Given the description of an element on the screen output the (x, y) to click on. 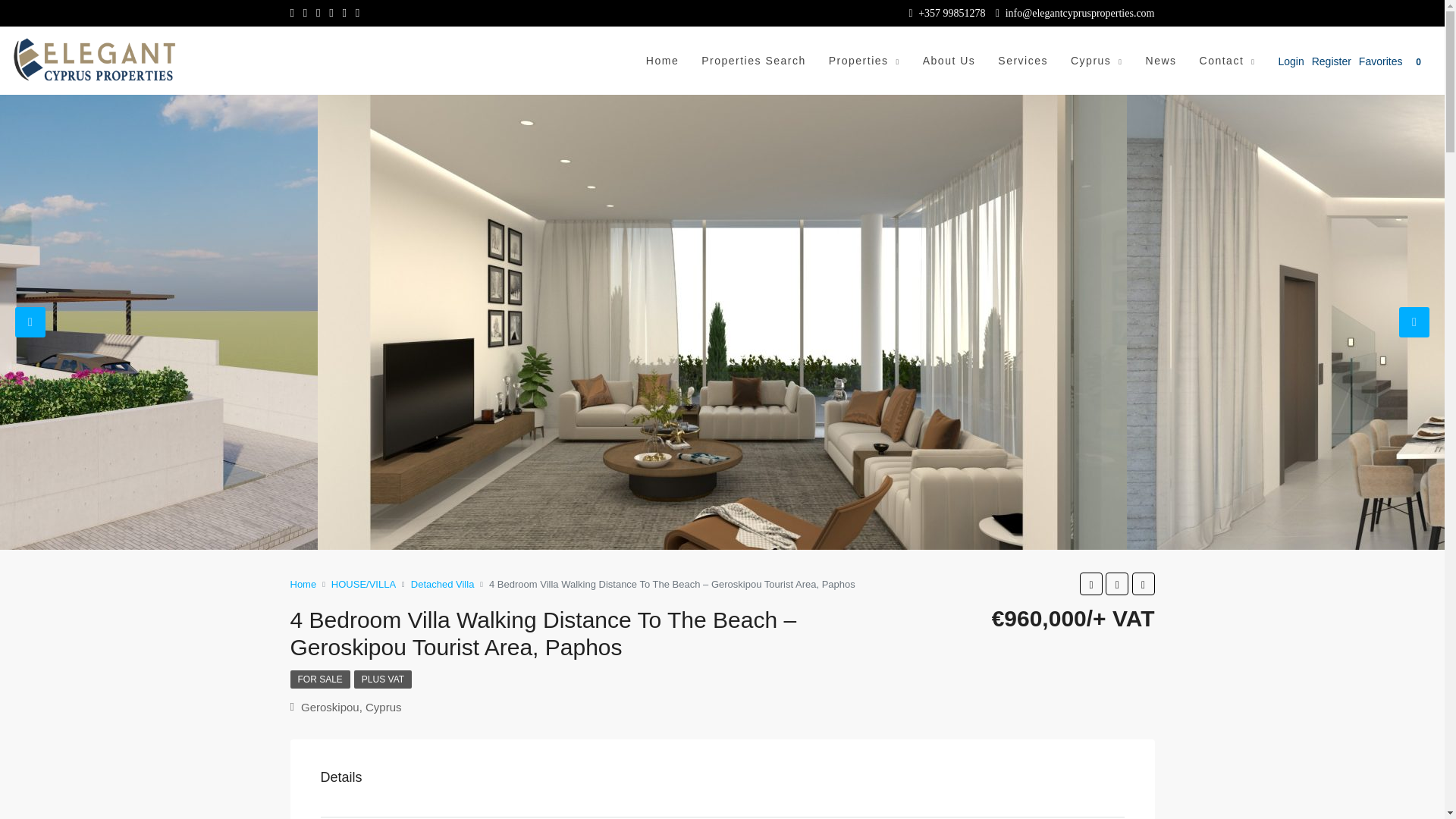
Login (1294, 61)
Cyprus (1096, 61)
Services (1023, 60)
Properties Search (753, 60)
Properties (863, 61)
Contact (1227, 61)
About Us (949, 60)
